Given the description of an element on the screen output the (x, y) to click on. 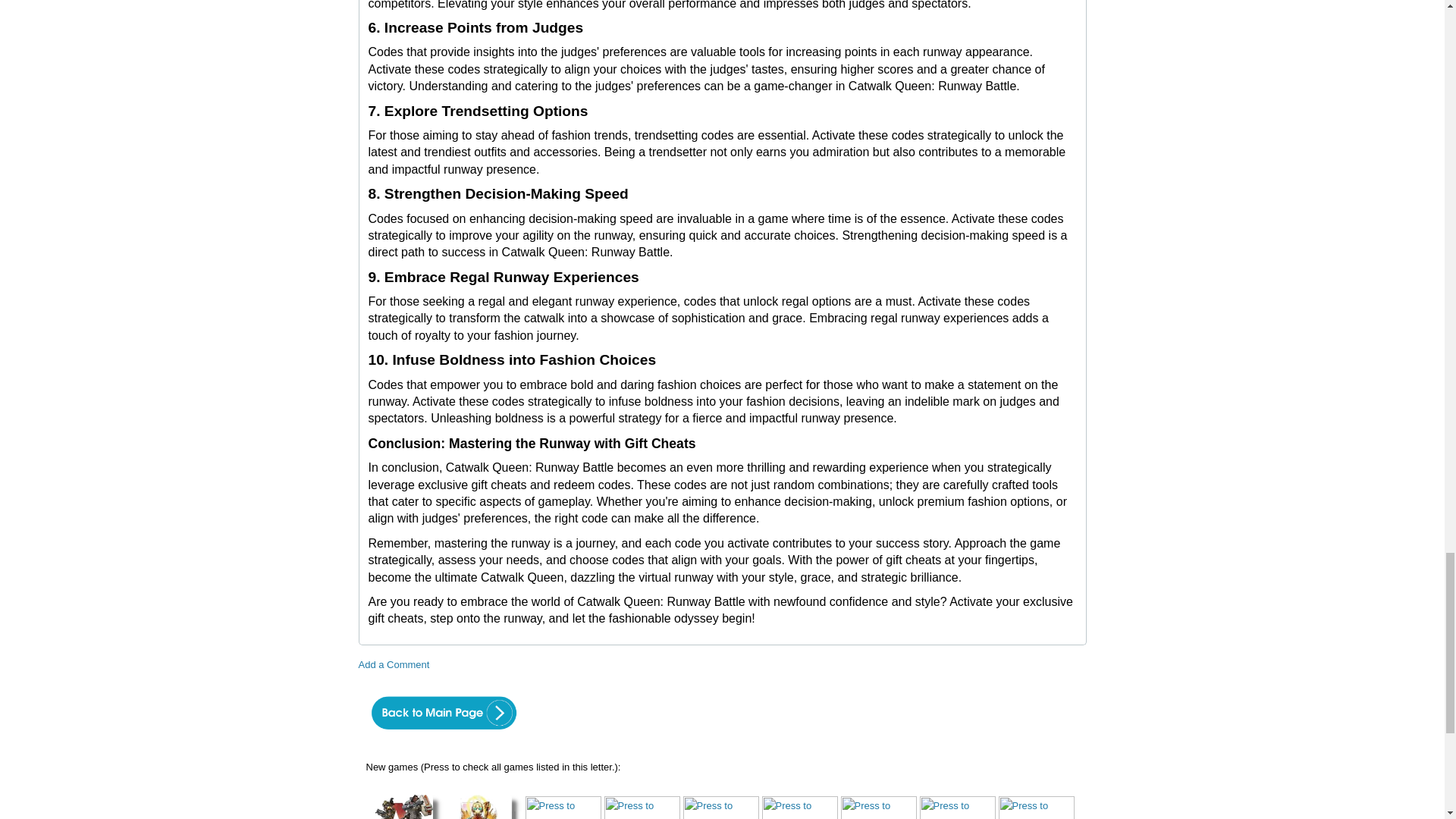
Press to check all games listed in this letter. (483, 806)
Press to check all games listed in this letter. (877, 807)
Gift codes (442, 732)
Press to check all games listed in this letter. (641, 807)
Press to check all games listed in this letter. (561, 807)
Go to the main menu (442, 712)
Press to check all games listed in this letter. (956, 807)
Press to check all games listed in this letter. (404, 806)
Press to check all games listed in this letter. (799, 807)
Press to check all games listed in this letter. (720, 807)
